Given the description of an element on the screen output the (x, y) to click on. 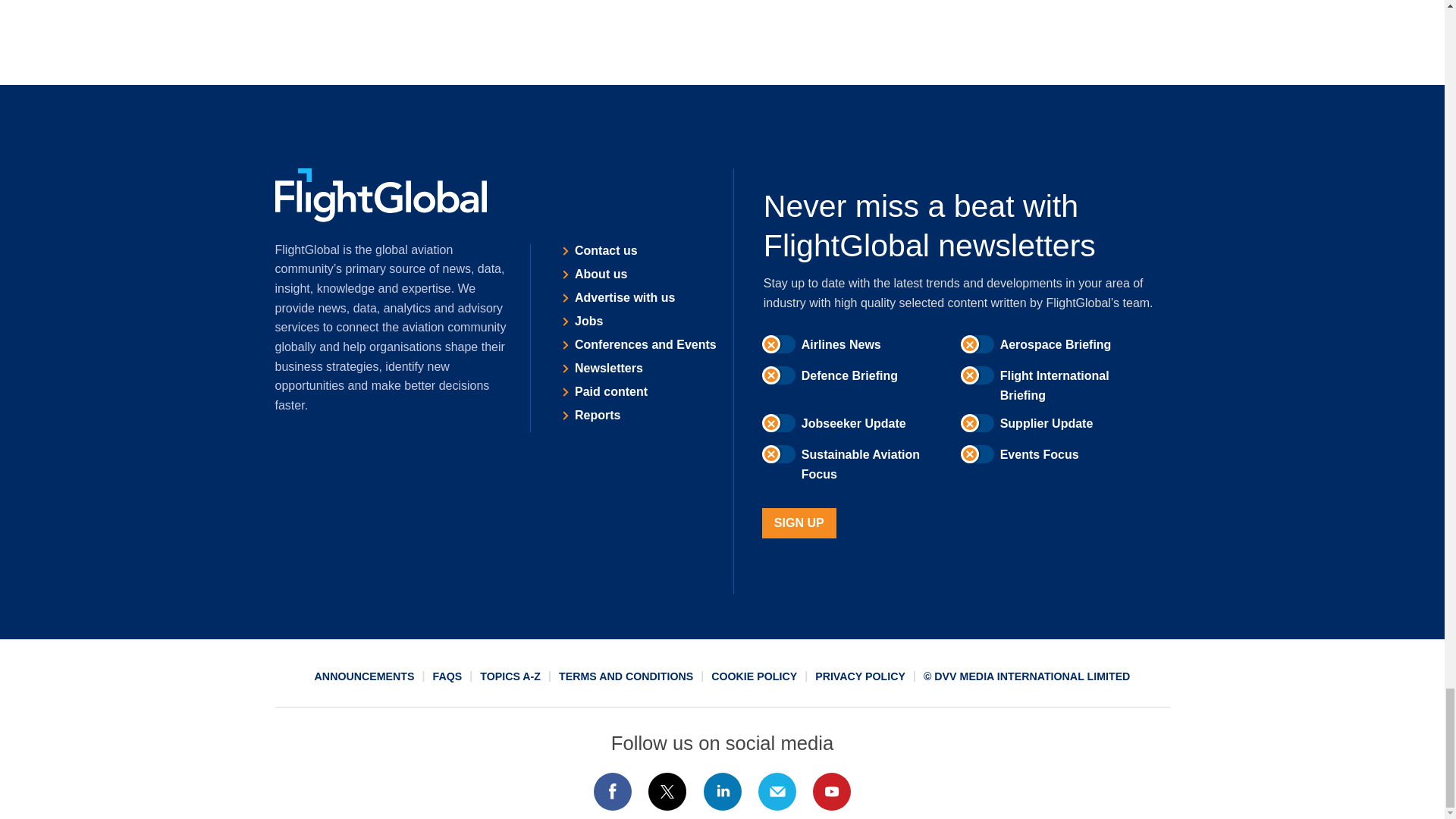
Connect with us on Twitter (667, 791)
Connect with us on Facebook (611, 791)
Connect with us on Linked In (721, 791)
Connect with us on Youtube (831, 791)
Email us (776, 791)
